Given the description of an element on the screen output the (x, y) to click on. 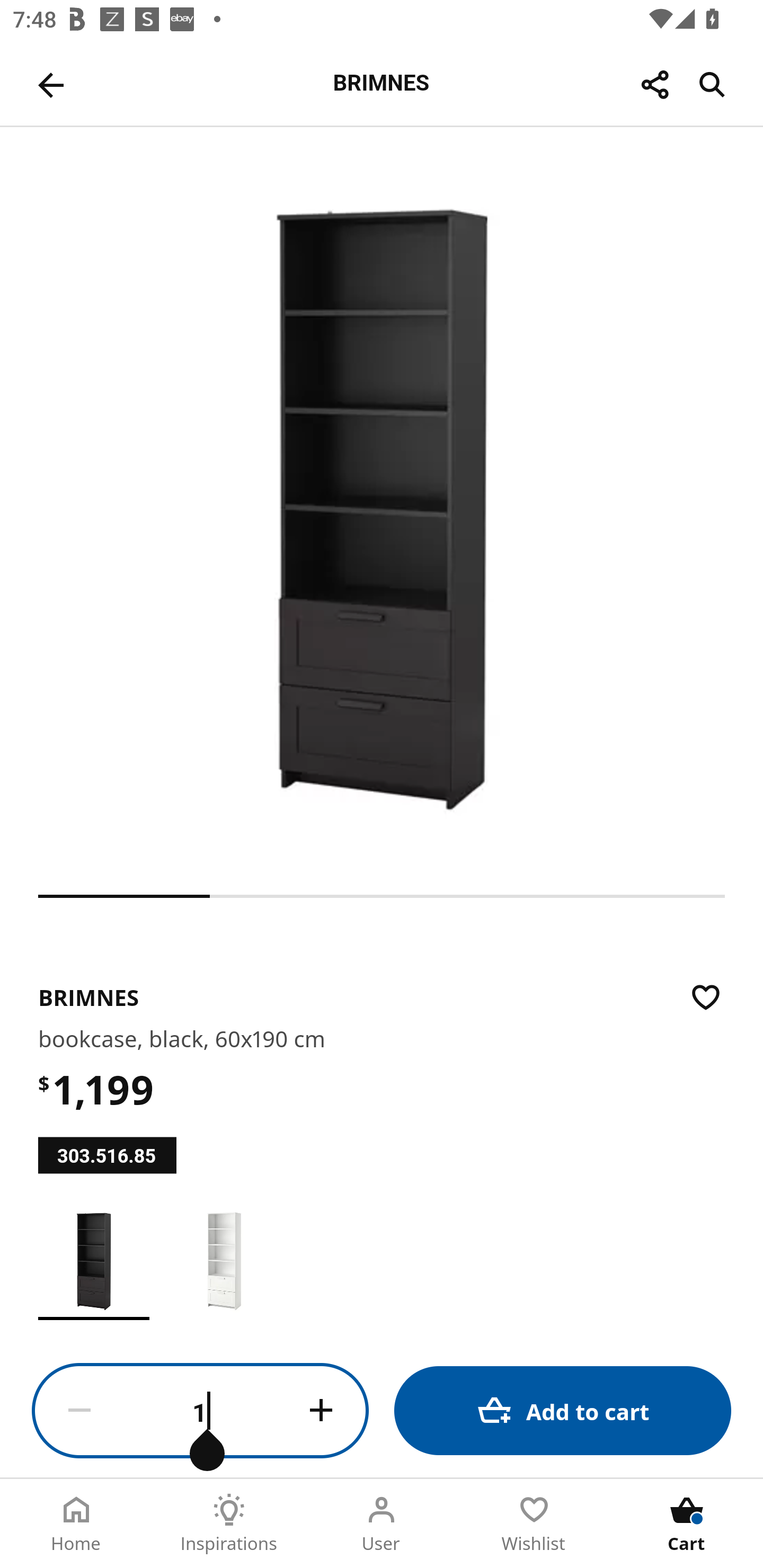
Add to cart (562, 1410)
1 (200, 1411)
Home
Tab 1 of 5 (76, 1522)
Inspirations
Tab 2 of 5 (228, 1522)
User
Tab 3 of 5 (381, 1522)
Wishlist
Tab 4 of 5 (533, 1522)
Cart
Tab 5 of 5 (686, 1522)
